Given the description of an element on the screen output the (x, y) to click on. 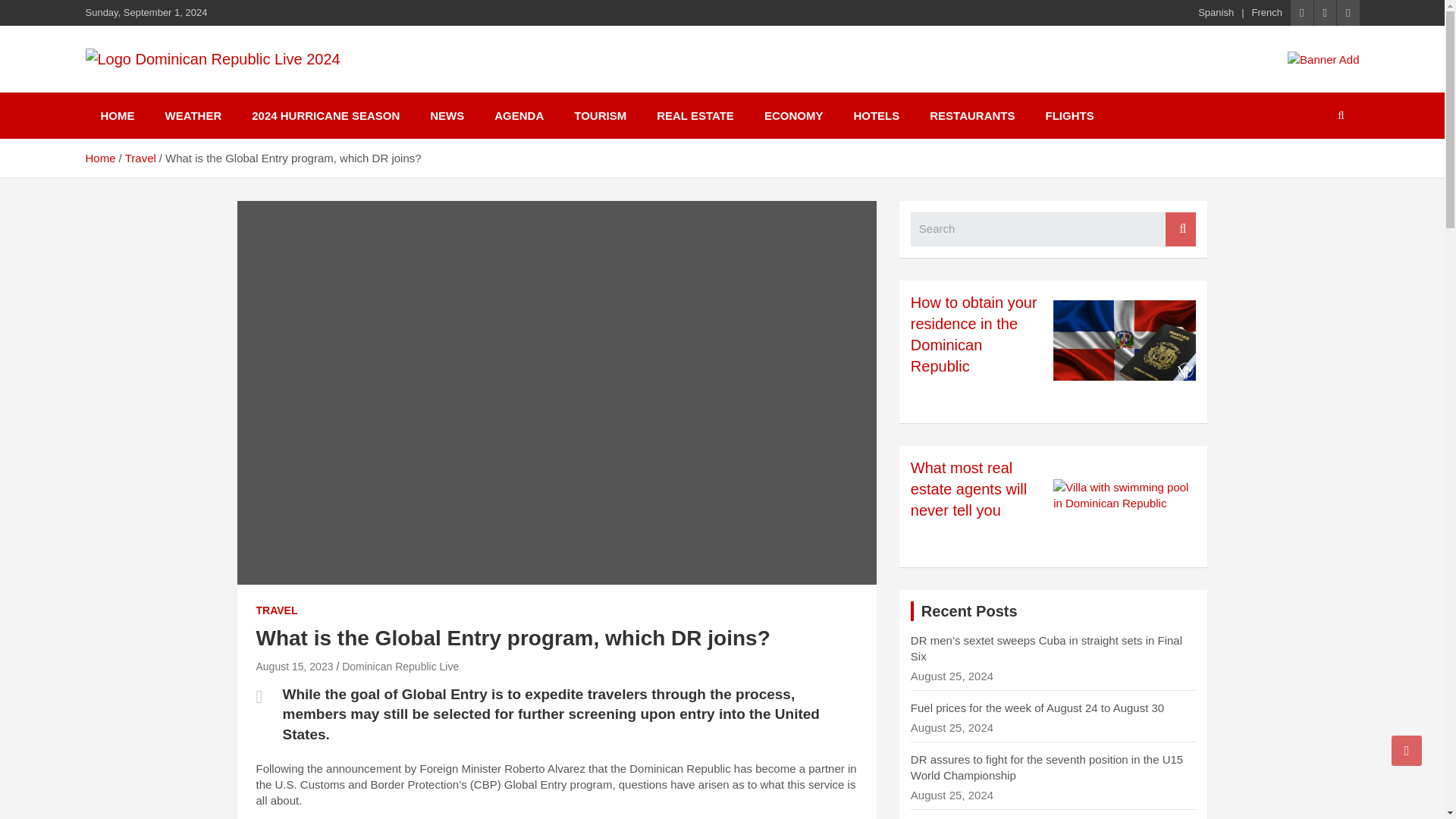
TOURISM (600, 115)
HOTELS (876, 115)
DOMINICAN REPUBLIC LIVE (291, 89)
REAL ESTATE (695, 115)
Dominican Republic Live (400, 666)
HOME (116, 115)
WEATHER (193, 115)
NEWS (446, 115)
Travel (140, 157)
TRAVEL (277, 611)
